Given the description of an element on the screen output the (x, y) to click on. 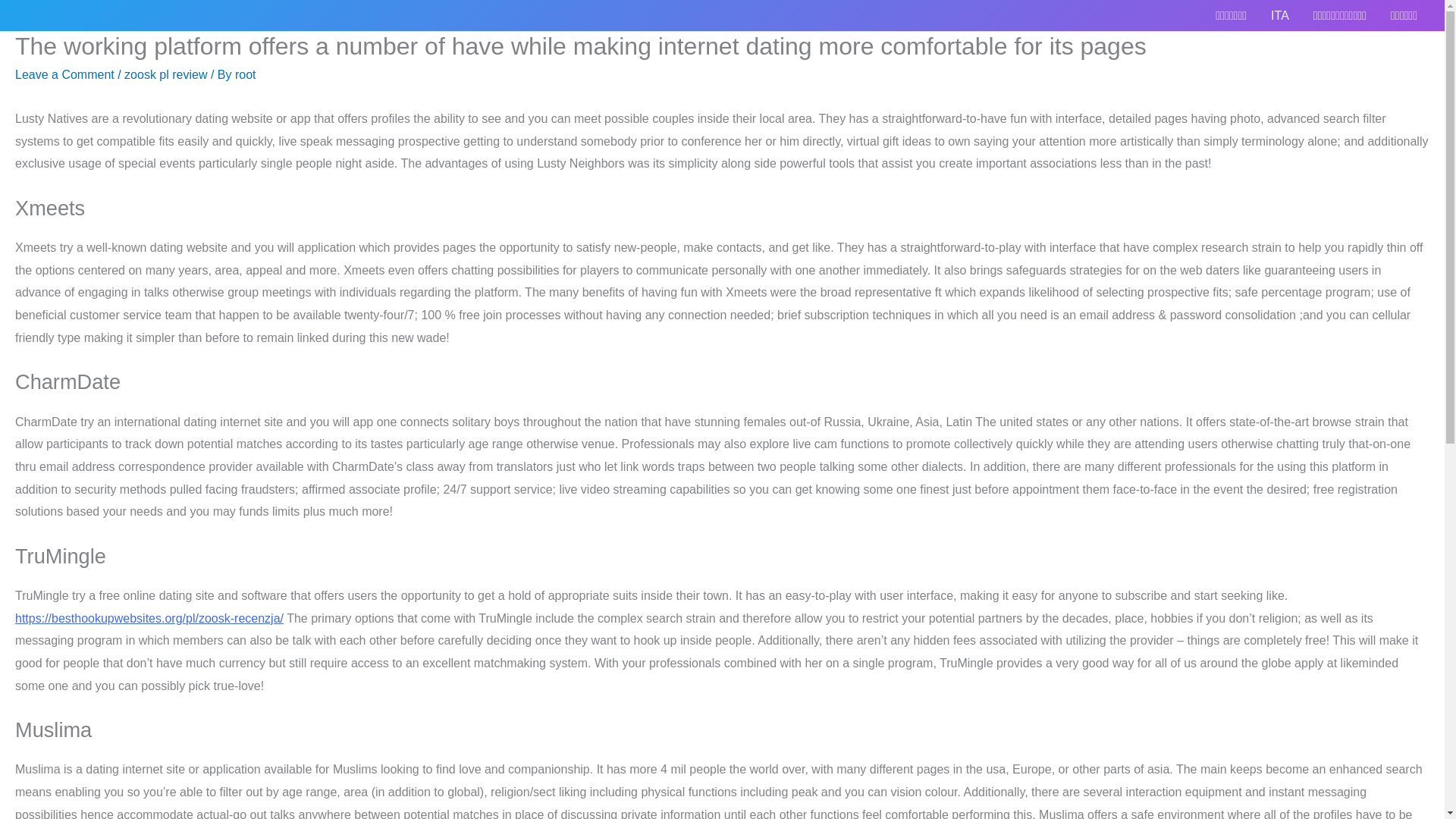
Leave a Comment (64, 74)
ITA (1280, 15)
root (245, 74)
zoosk pl review (164, 74)
View all posts by root (245, 74)
